Given the description of an element on the screen output the (x, y) to click on. 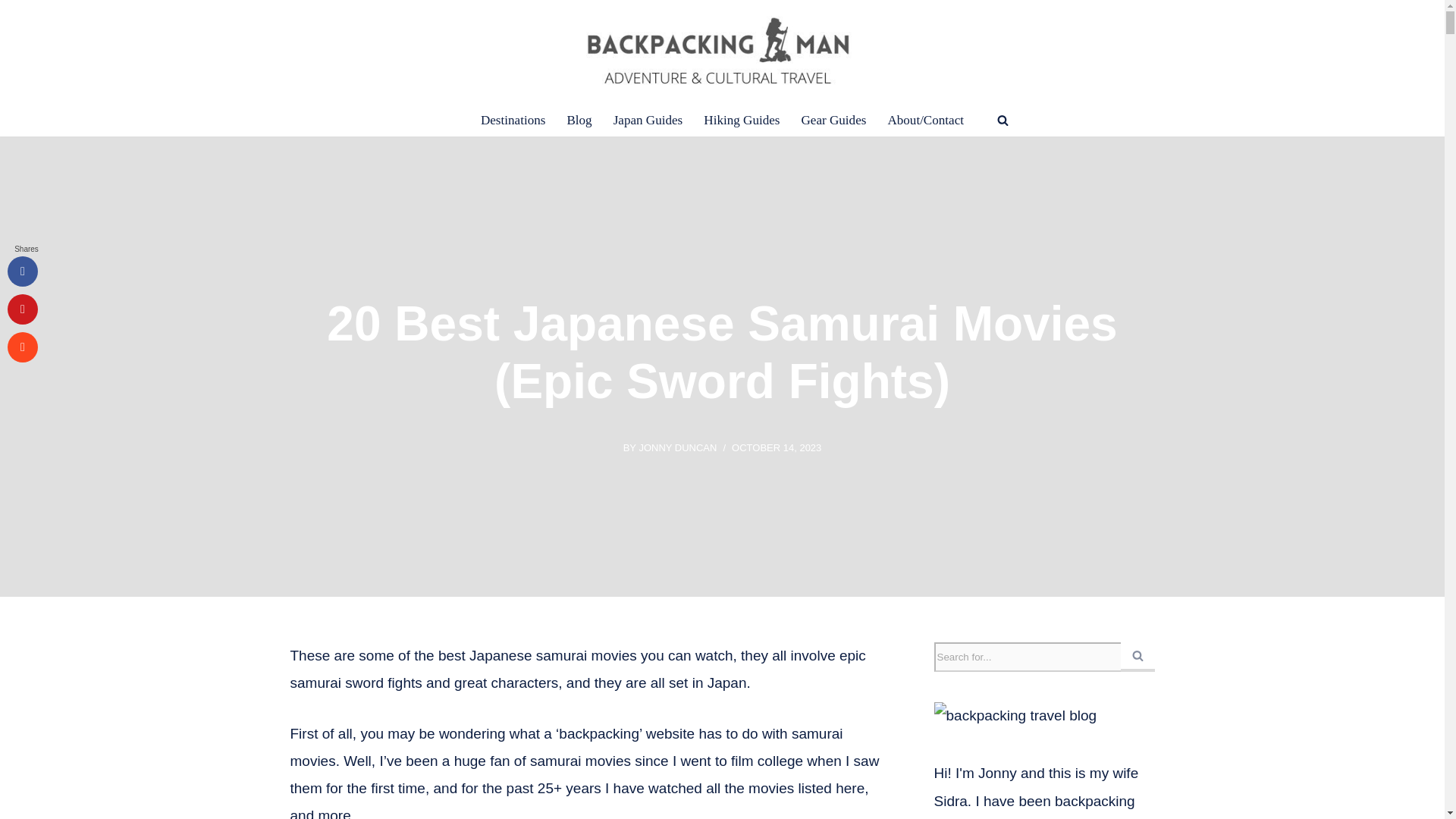
JONNY DUNCAN (677, 447)
Japan Guides (647, 119)
Destinations (512, 119)
Skip to content (11, 31)
Blog (578, 119)
Gear Guides (833, 119)
Posts by Jonny Duncan (677, 447)
Hiking Guides (740, 119)
